Given the description of an element on the screen output the (x, y) to click on. 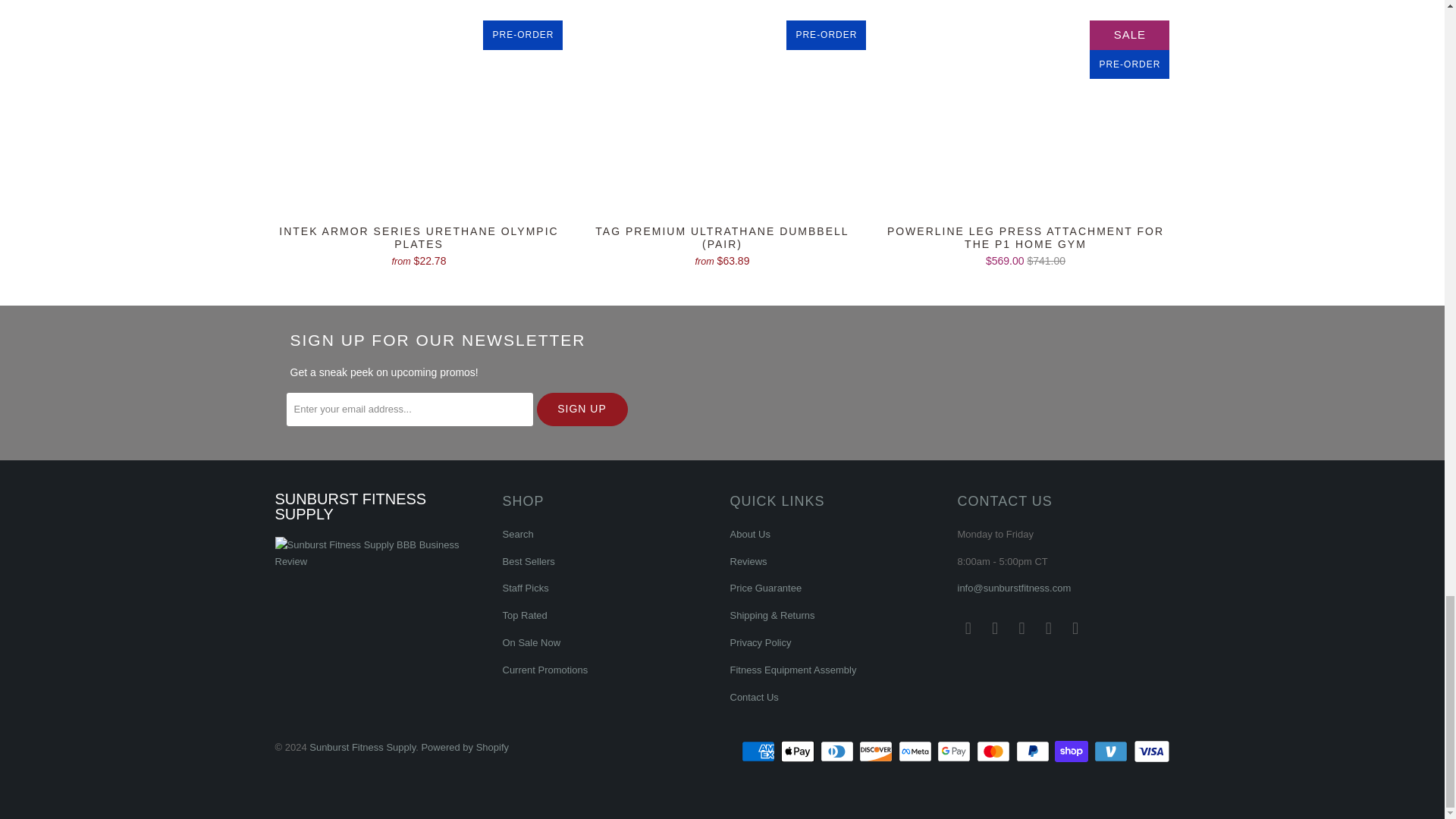
Meta Pay (916, 751)
Mastercard (994, 751)
Sign Up (582, 409)
PayPal (1034, 751)
Venmo (1112, 751)
Visa (1150, 751)
Discover (877, 751)
Shop Pay (1072, 751)
Diners Club (839, 751)
American Express (759, 751)
Google Pay (955, 751)
Apple Pay (798, 751)
